Given the description of an element on the screen output the (x, y) to click on. 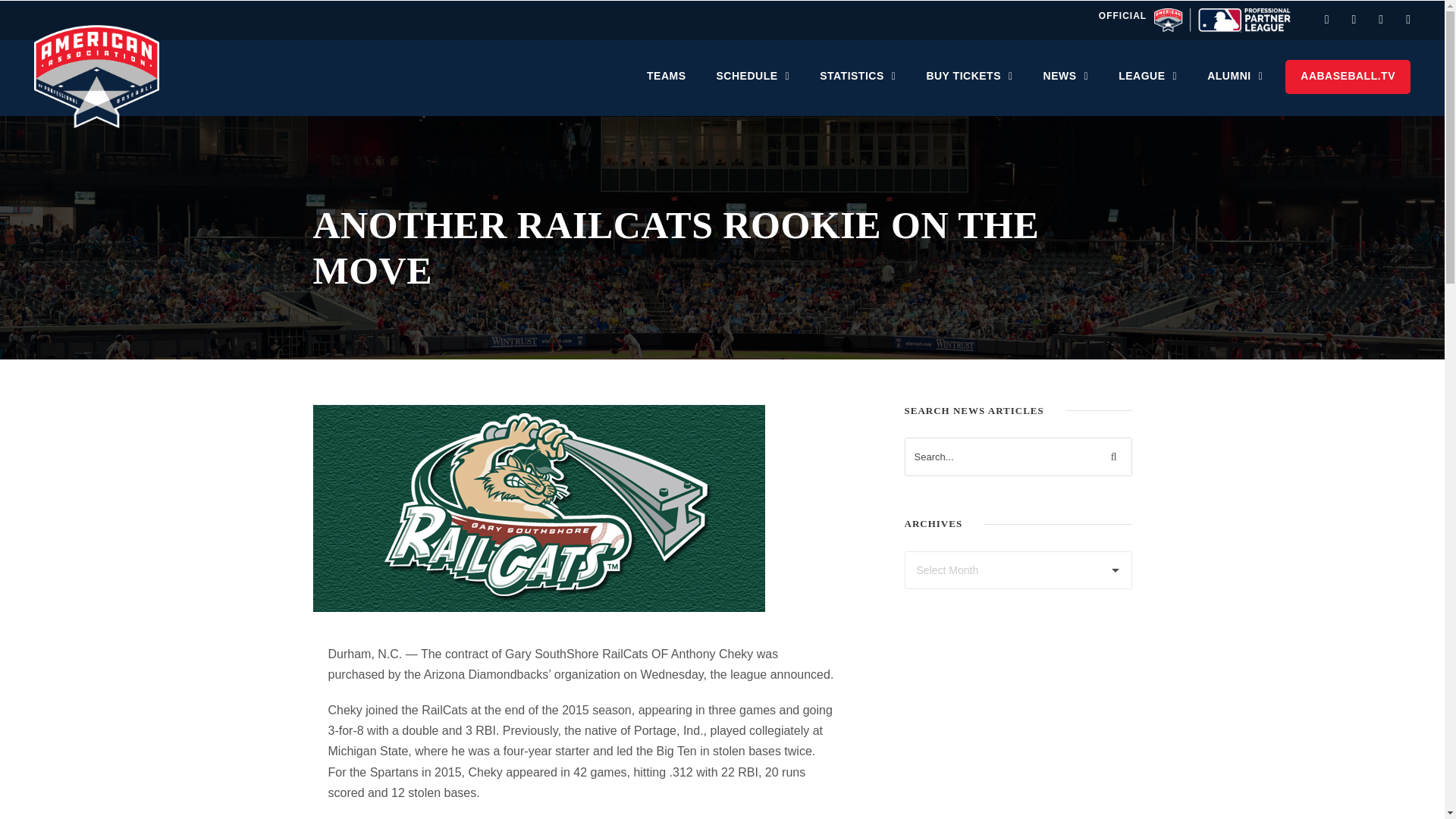
Aa Baseball Logo (95, 76)
SCHEDULE (753, 83)
STATISTICS (857, 83)
NEWS (1066, 83)
BUY TICKETS (968, 83)
TEAMS (665, 83)
Gary (538, 507)
